Given the description of an element on the screen output the (x, y) to click on. 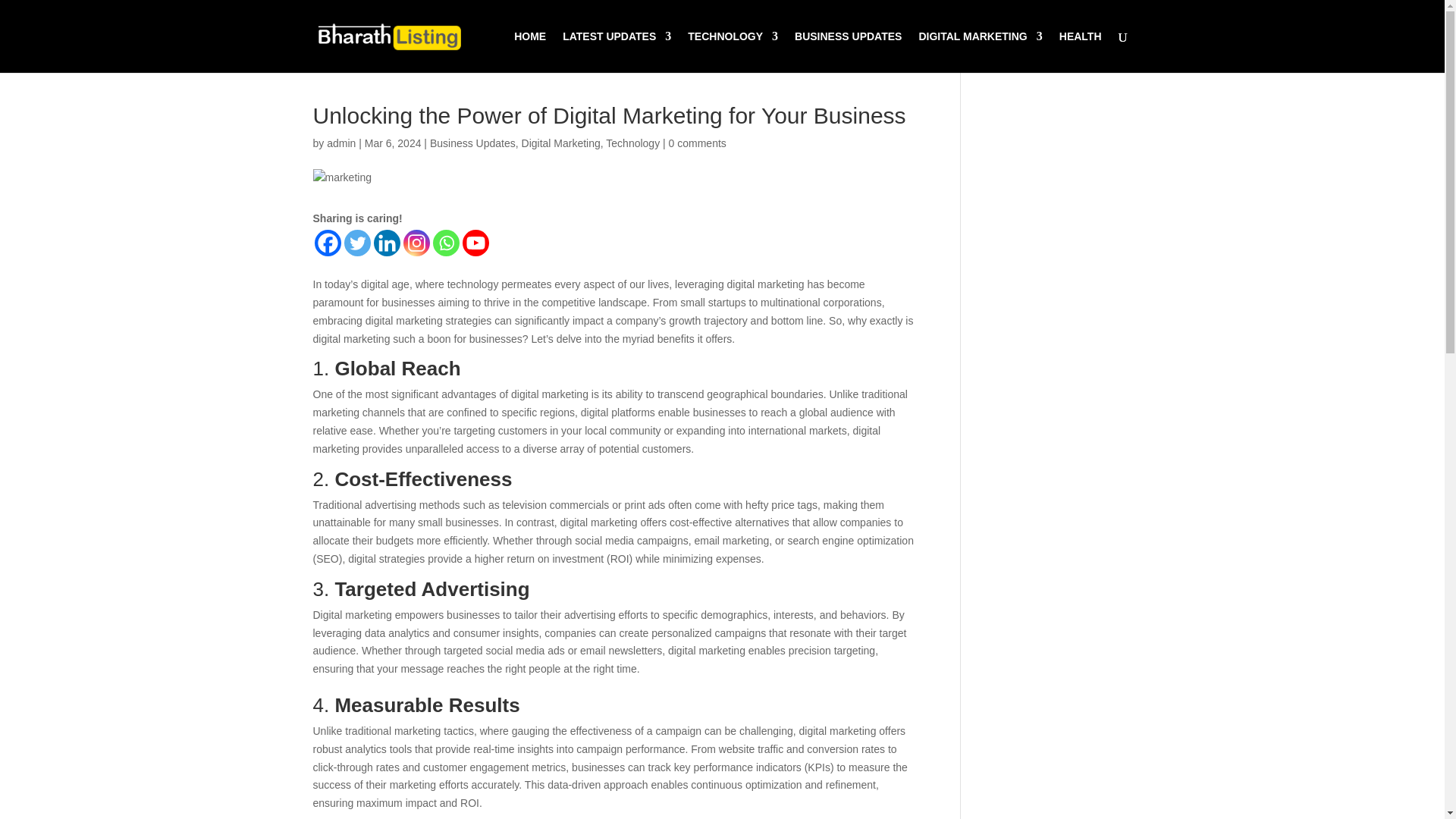
0 comments (697, 143)
BUSINESS UPDATES (847, 51)
Business Updates (472, 143)
HEALTH (1080, 51)
Facebook (327, 243)
Technology (632, 143)
DIGITAL MARKETING (980, 51)
Twitter (357, 243)
TECHNOLOGY (732, 51)
Posts by admin (340, 143)
Linkedin (385, 243)
LATEST UPDATES (616, 51)
Youtube (476, 243)
Whatsapp (445, 243)
admin (340, 143)
